Given the description of an element on the screen output the (x, y) to click on. 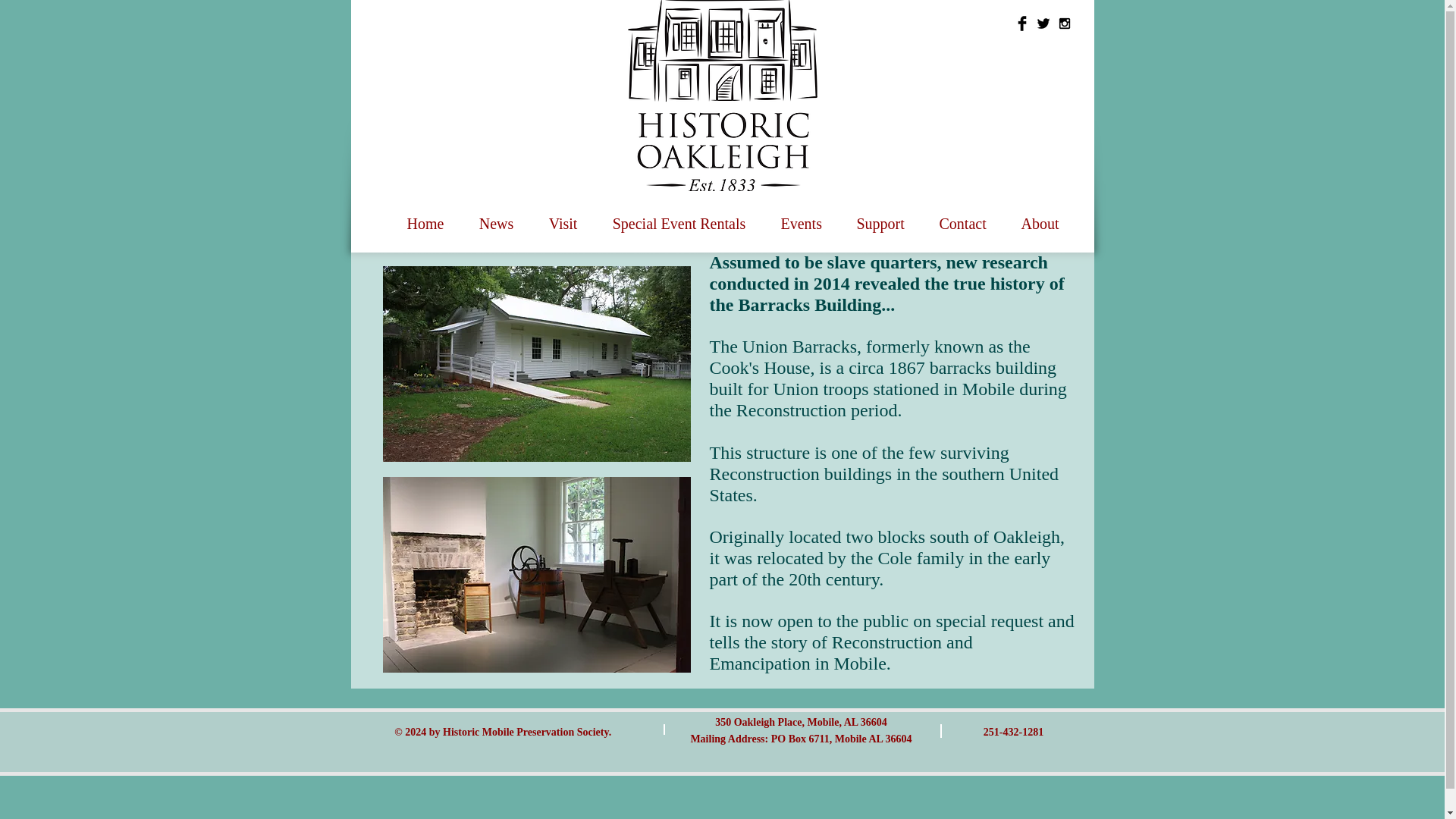
Home (425, 216)
Special Event Rentals (678, 216)
Historic Oakleigh Logo copy.png (721, 95)
Contact (962, 216)
Visit (562, 216)
News (496, 216)
Facebook Like (1046, 70)
